Given the description of an element on the screen output the (x, y) to click on. 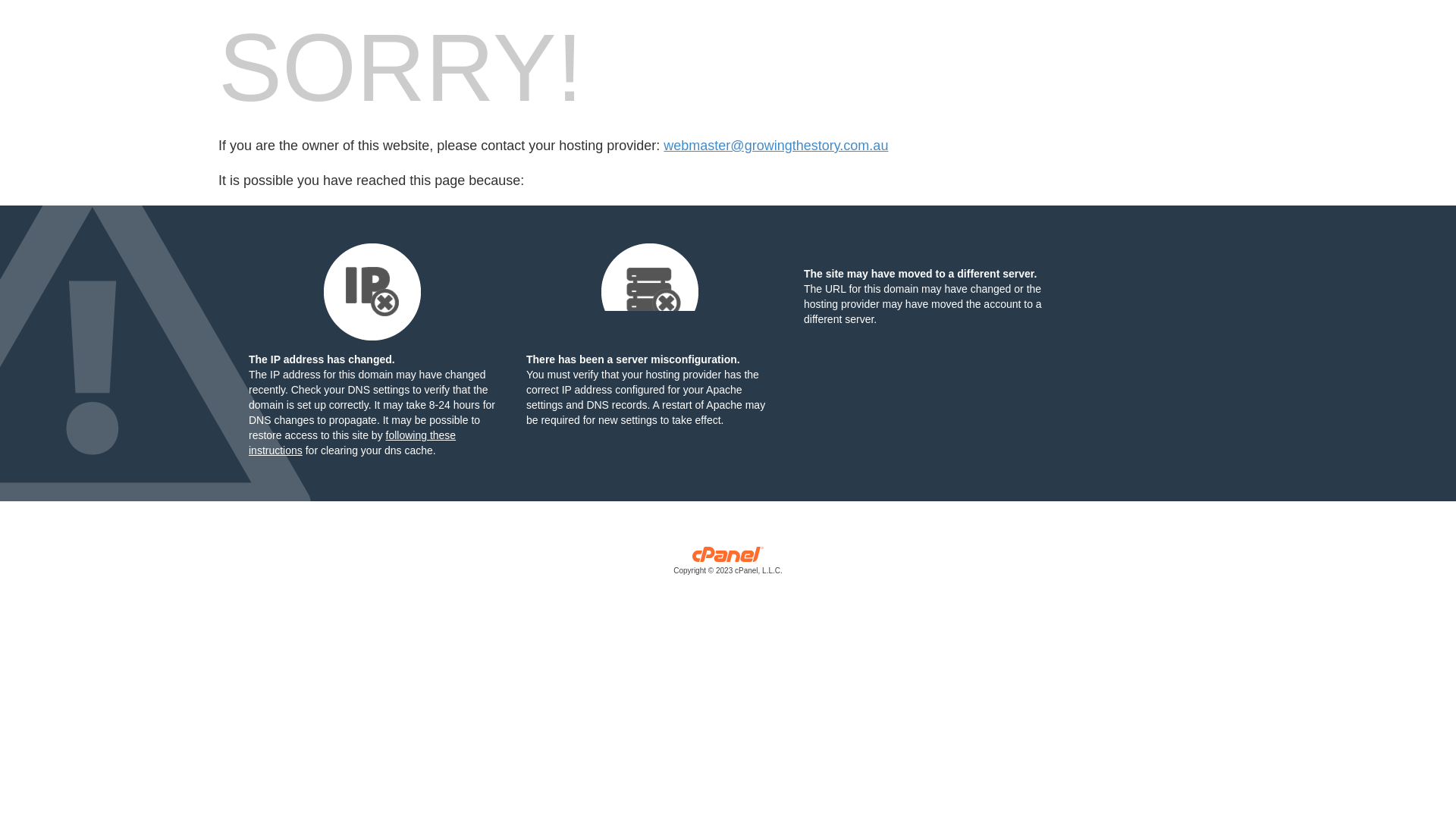
webmaster@growingthestory.com.au Element type: text (775, 145)
following these instructions Element type: text (351, 442)
